Given the description of an element on the screen output the (x, y) to click on. 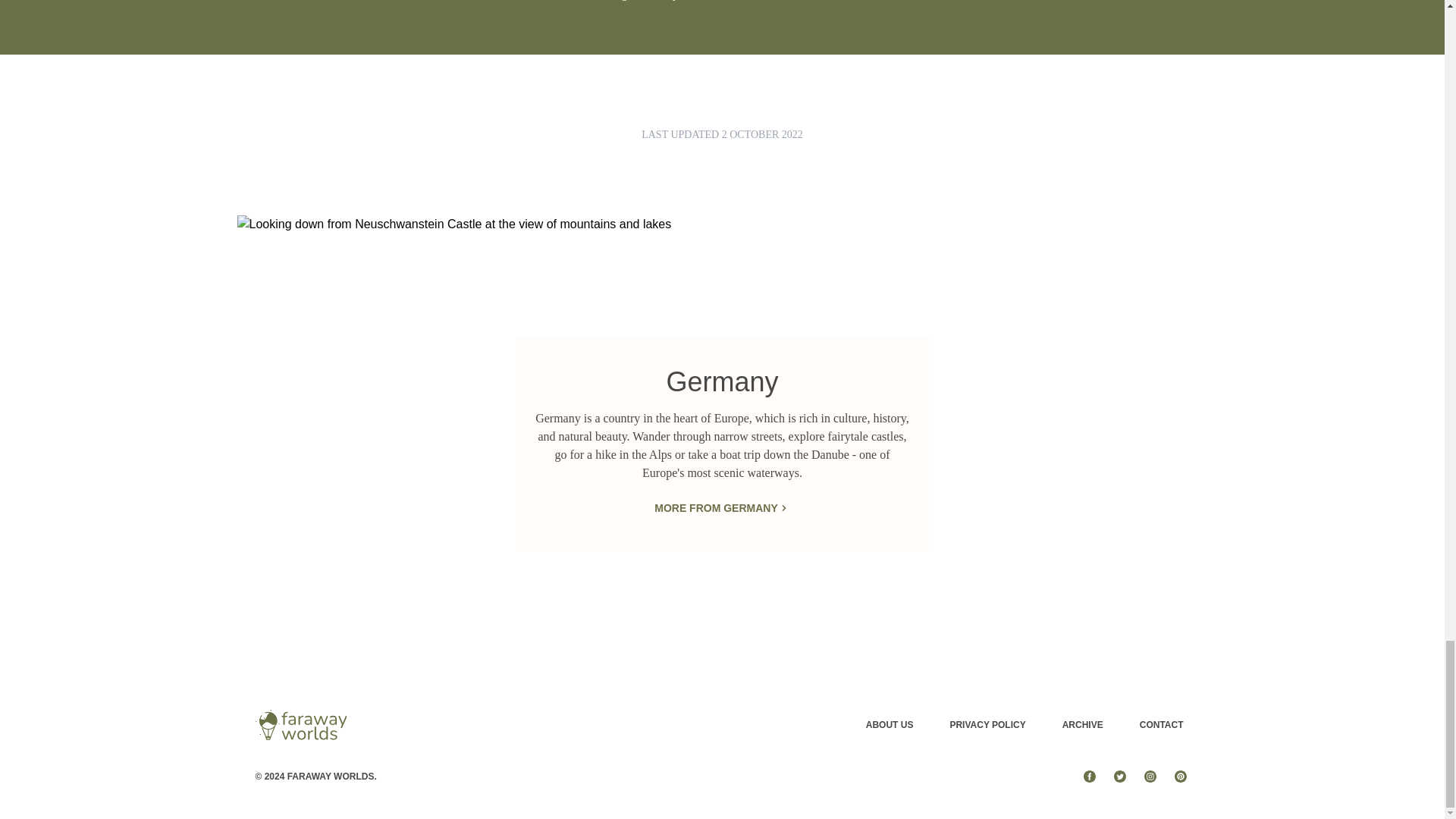
PRIVACY POLICY (987, 725)
ABOUT US (890, 725)
MORE FROM GERMANY (721, 507)
ARCHIVE (1082, 725)
CONTACT (1161, 725)
